Given the description of an element on the screen output the (x, y) to click on. 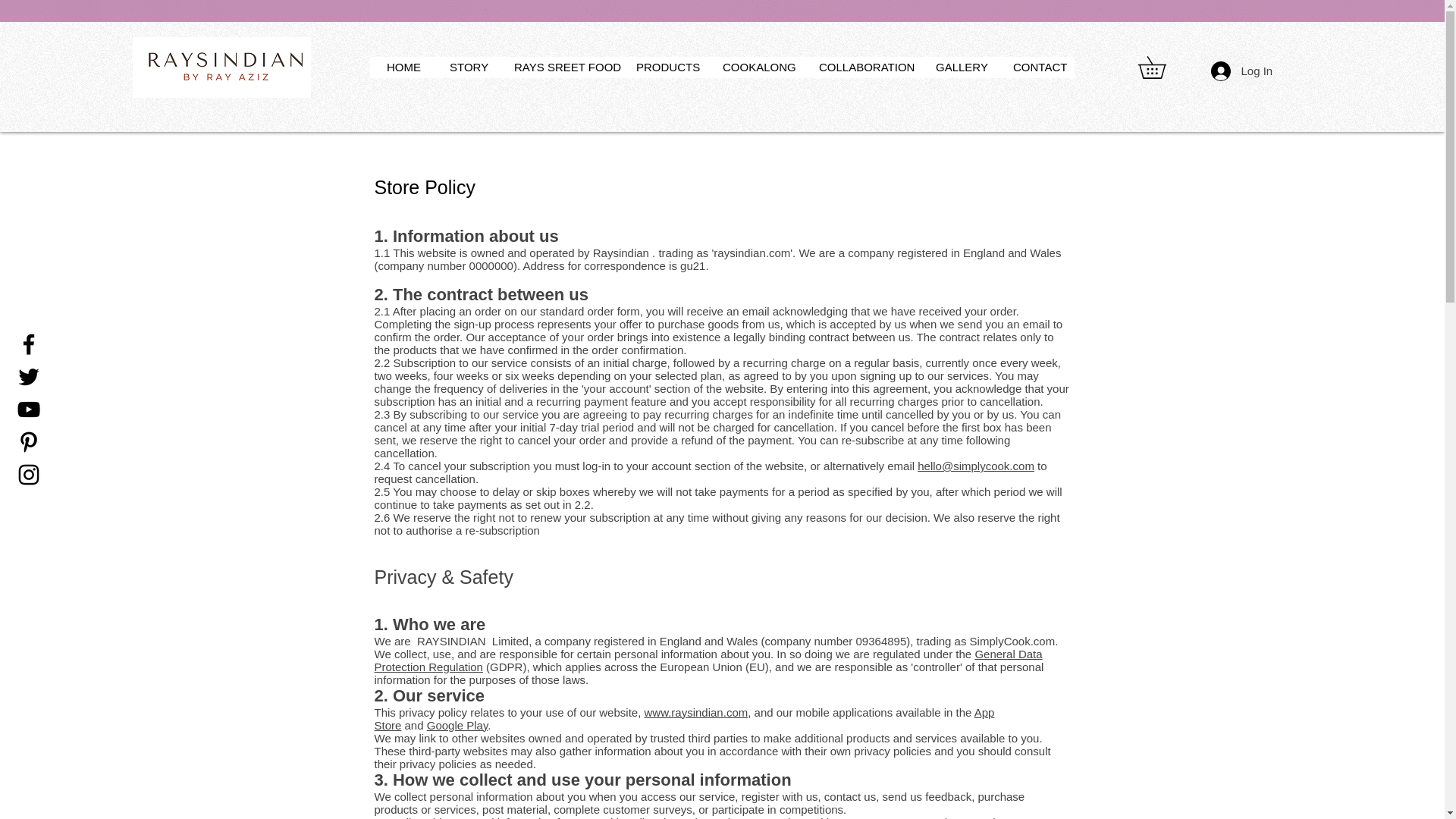
RAYS SREET FOOD (559, 67)
CONTACT (1036, 67)
COOKALONG (756, 67)
App Store (684, 718)
Log In (1230, 70)
STORY (466, 67)
General Data Protection Regulation (708, 660)
Google Play (456, 725)
GALLERY (958, 67)
PRODUCTS (664, 67)
